Given the description of an element on the screen output the (x, y) to click on. 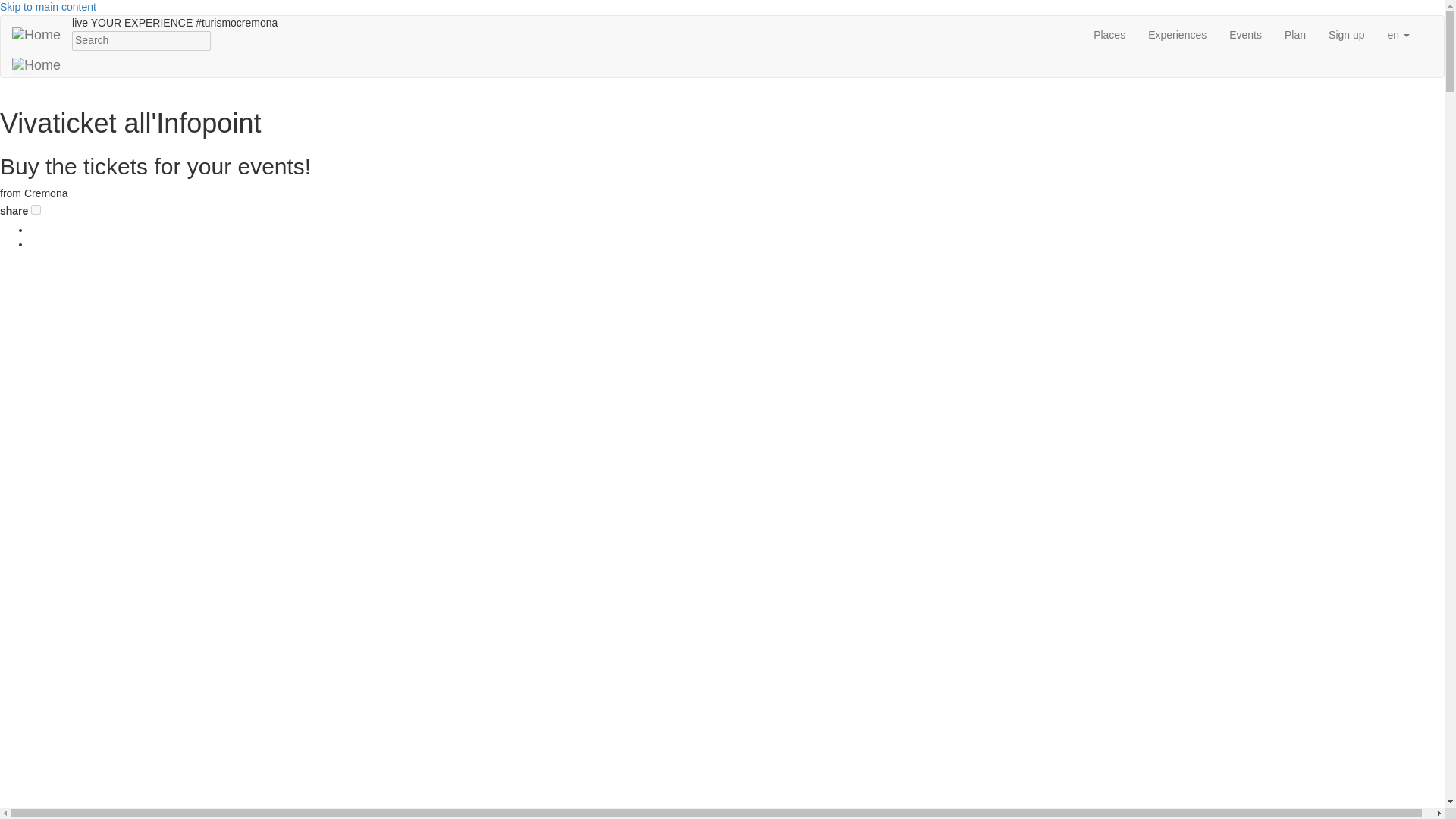
en (1398, 34)
Skip to main content (48, 6)
Sign up (1346, 34)
Experiences (1177, 34)
Plan (1294, 34)
Places (1109, 34)
Home (36, 34)
Events (1244, 34)
on (35, 209)
